Given the description of an element on the screen output the (x, y) to click on. 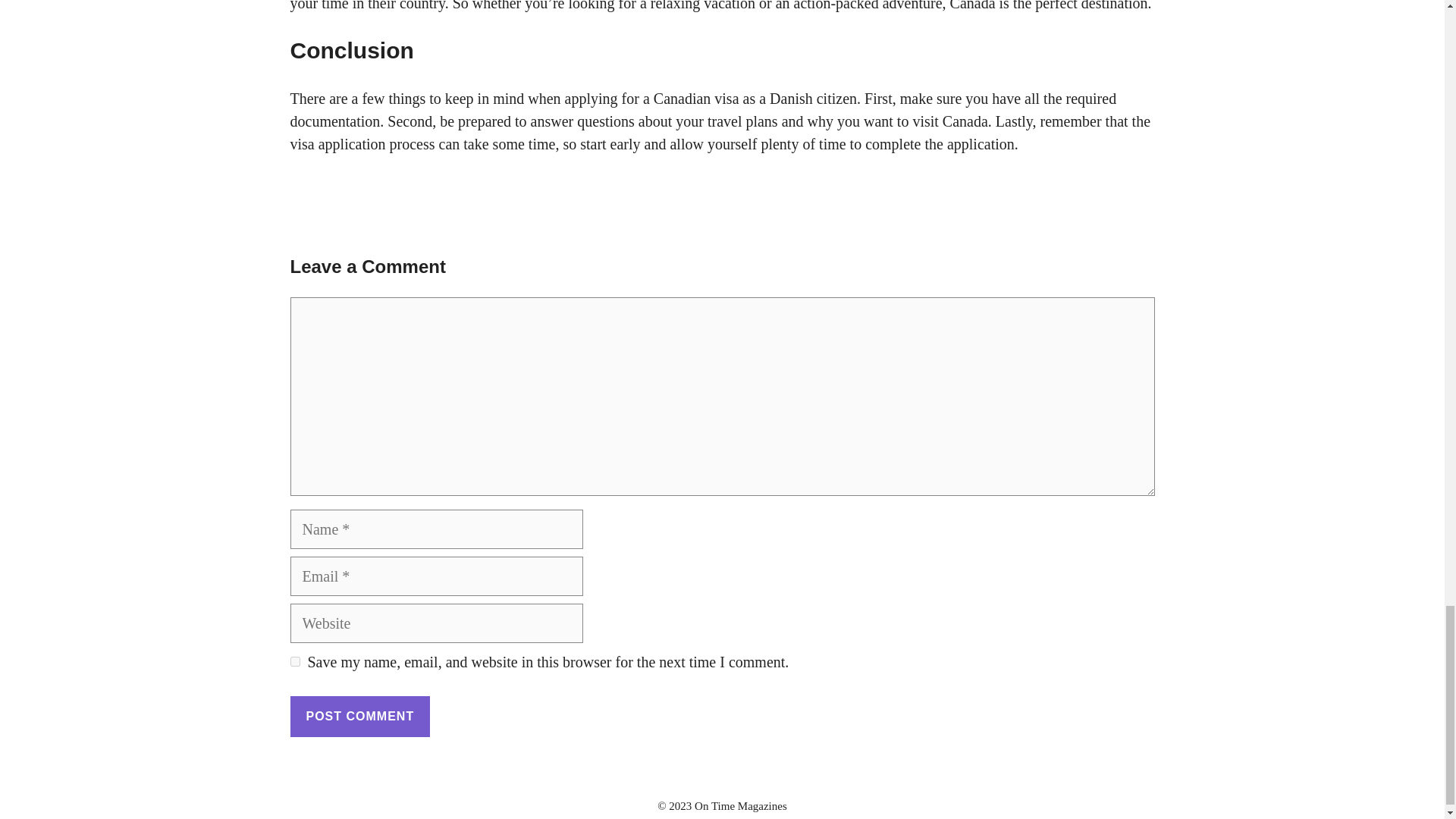
yes (294, 661)
Post Comment (359, 716)
Post Comment (359, 716)
